Given the description of an element on the screen output the (x, y) to click on. 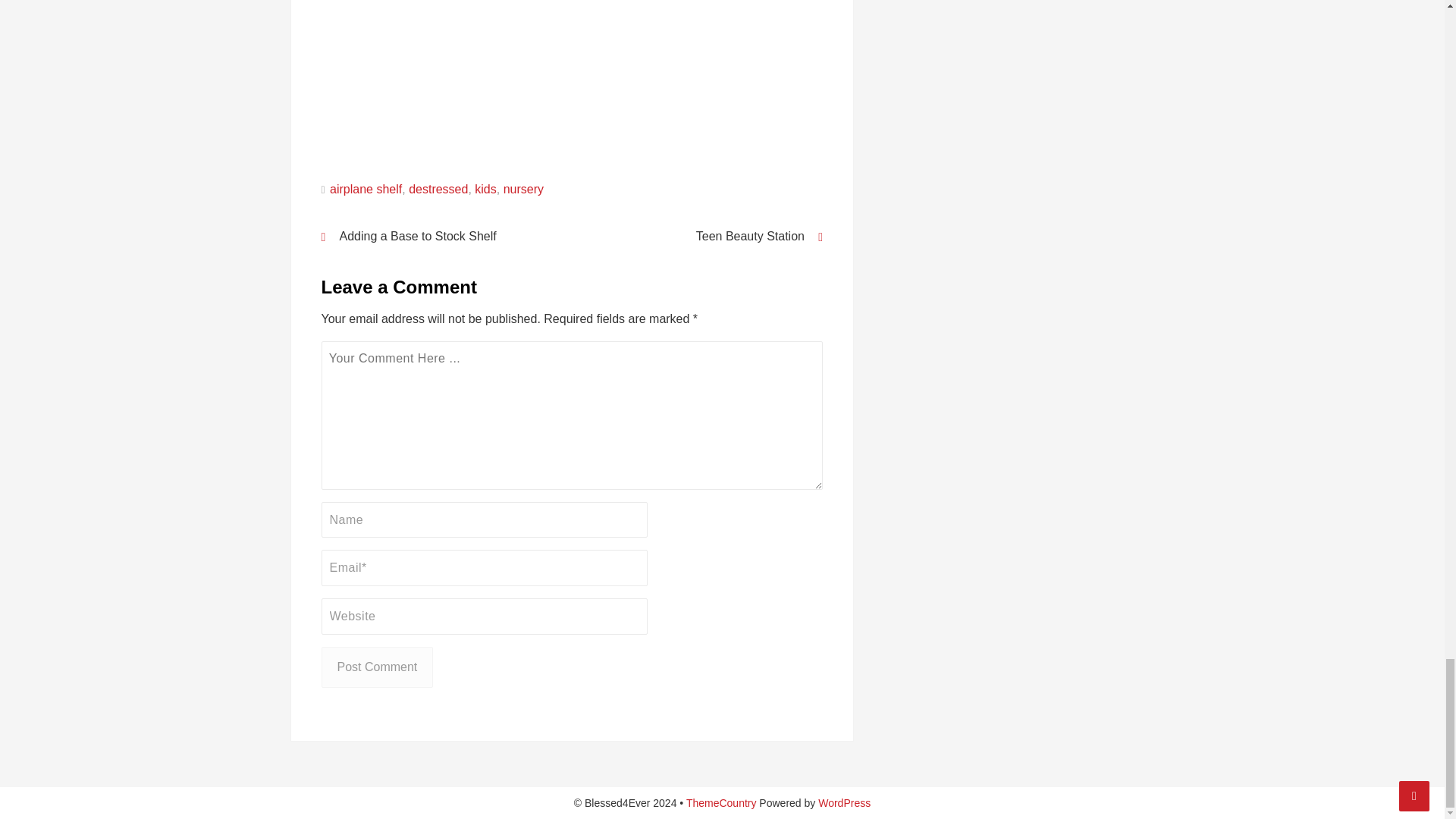
kids (485, 187)
Post Comment (377, 667)
Post Comment (377, 667)
destressed (438, 187)
BasePress - The best free WordPress blog theme for WordPress (721, 802)
nursery (523, 187)
Adding a Base to Stock Shelf (436, 235)
airplane shelf (365, 187)
Teen Beauty Station (707, 235)
